Given the description of an element on the screen output the (x, y) to click on. 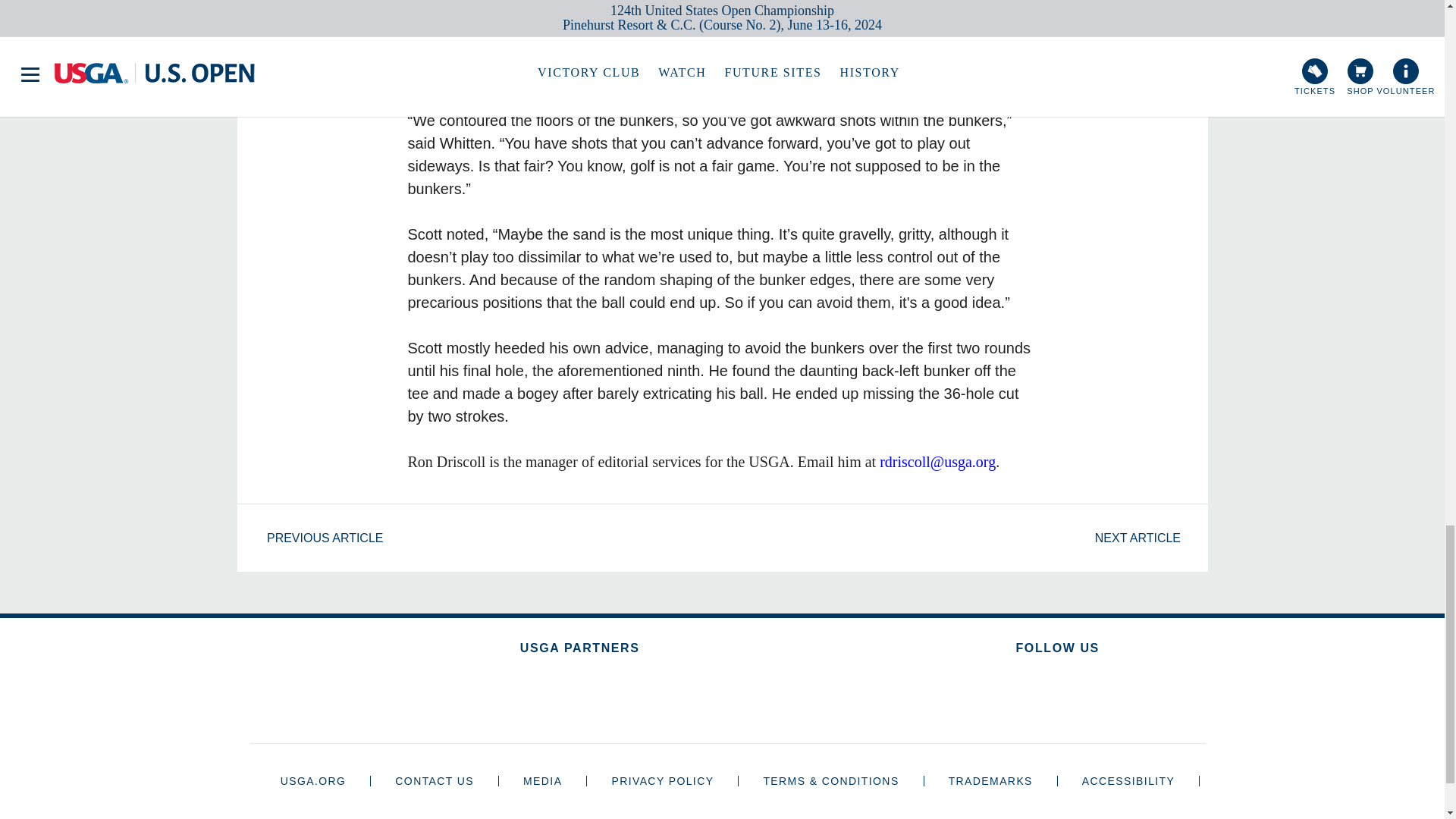
USGA.ORG (313, 780)
Youtube (1082, 693)
Twitter (1032, 693)
USGA.ORG (313, 780)
Facebook (1130, 693)
CONTACT US (434, 780)
PREVIOUS ARTICLE (315, 537)
NEXT ARTICLE (1144, 537)
Instagram (984, 693)
Privacy Policy (662, 780)
Media (542, 780)
